Given the description of an element on the screen output the (x, y) to click on. 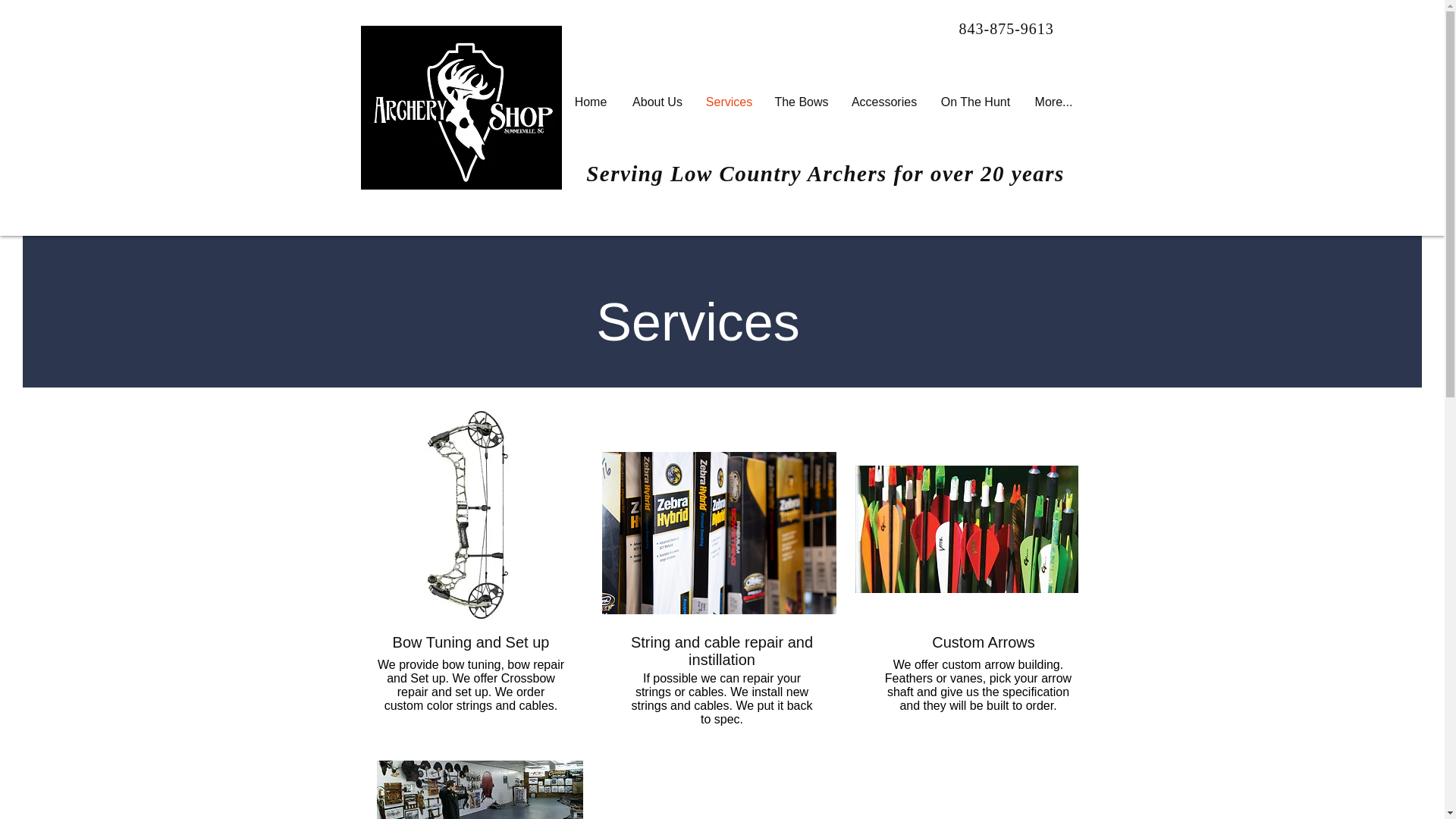
The Bows (801, 102)
Accessories (884, 102)
Serving Low Country Archers for over 20 years (825, 173)
On The Hunt (975, 102)
Services (728, 102)
About Us (657, 102)
